Given the description of an element on the screen output the (x, y) to click on. 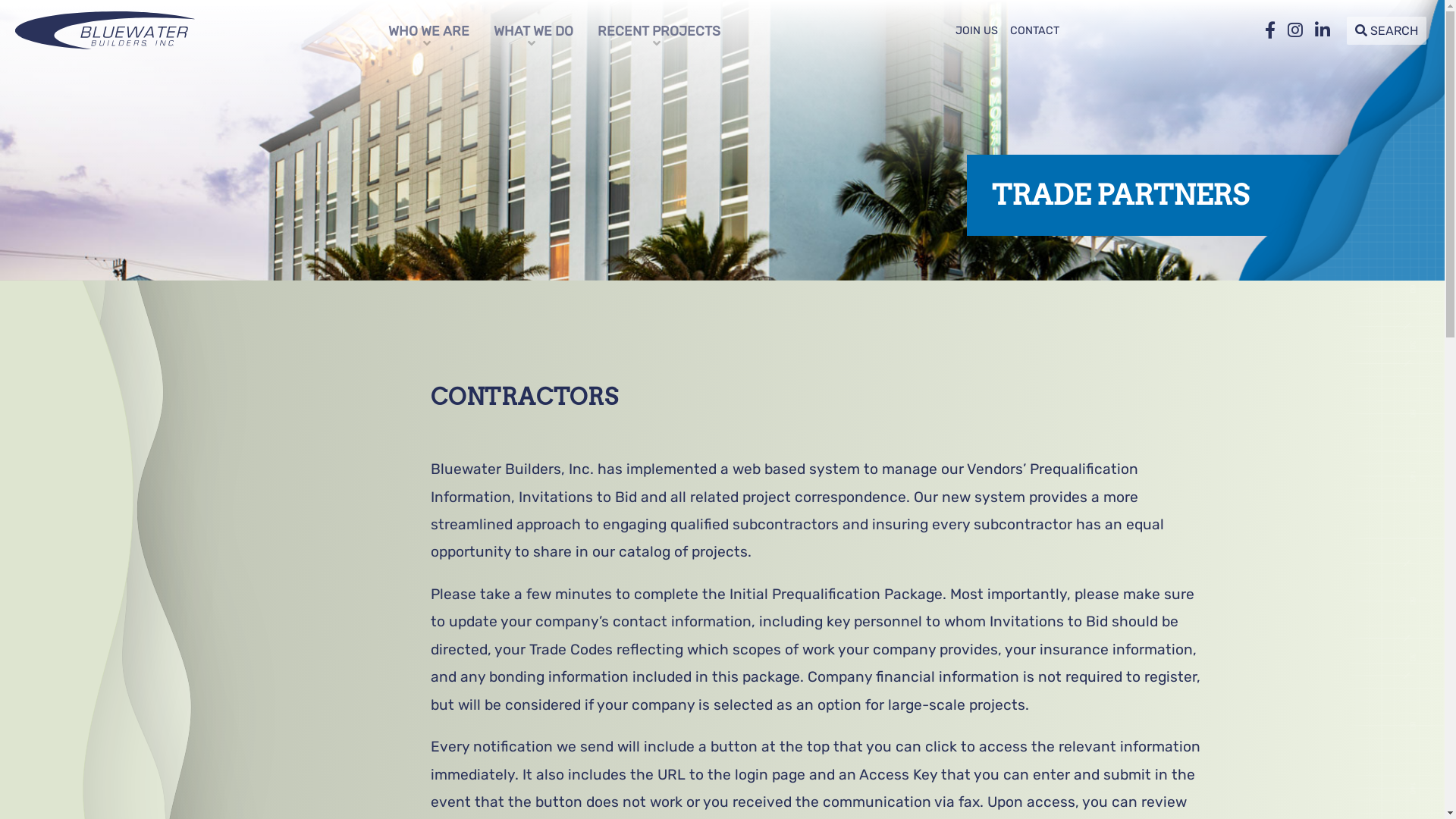
CONTACT Element type: text (1034, 30)
SEARCH Element type: text (1386, 30)
RECENT PROJECTS Element type: text (658, 30)
WHAT WE DO Element type: text (533, 30)
WHO WE ARE Element type: text (428, 30)
JOIN US Element type: text (976, 30)
